Given the description of an element on the screen output the (x, y) to click on. 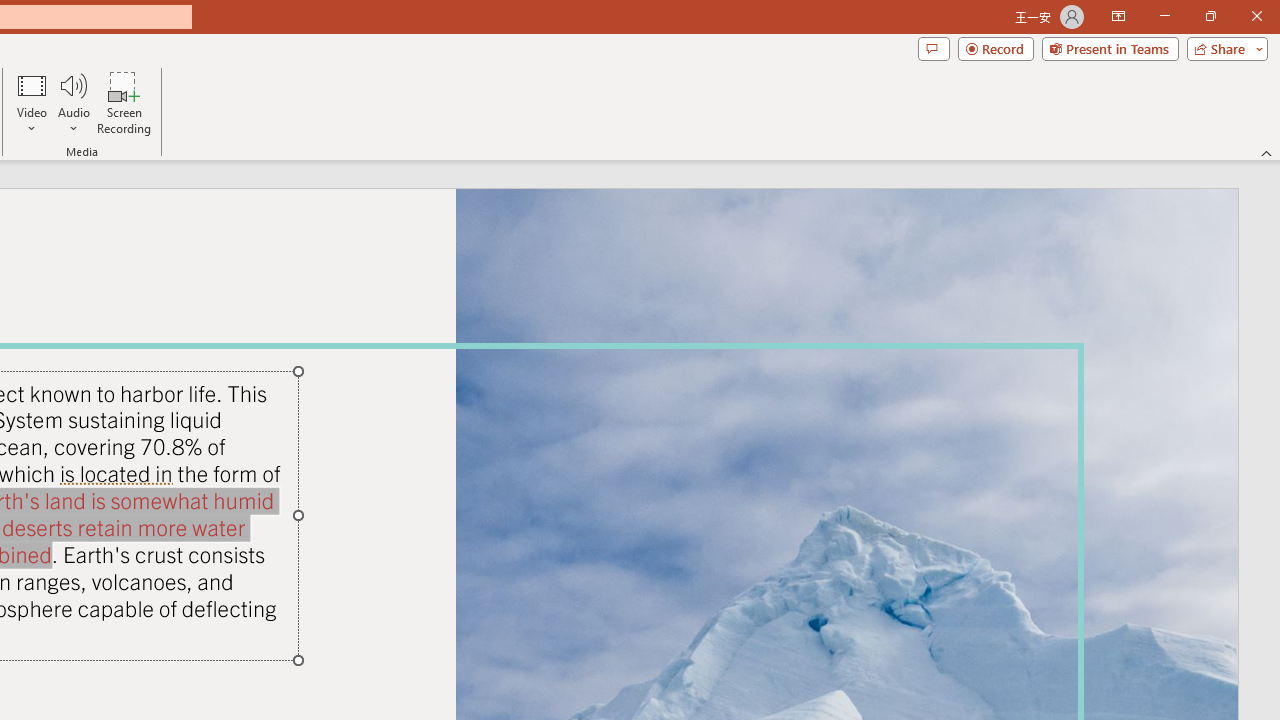
Video (31, 102)
Screen Recording... (123, 102)
